Given the description of an element on the screen output the (x, y) to click on. 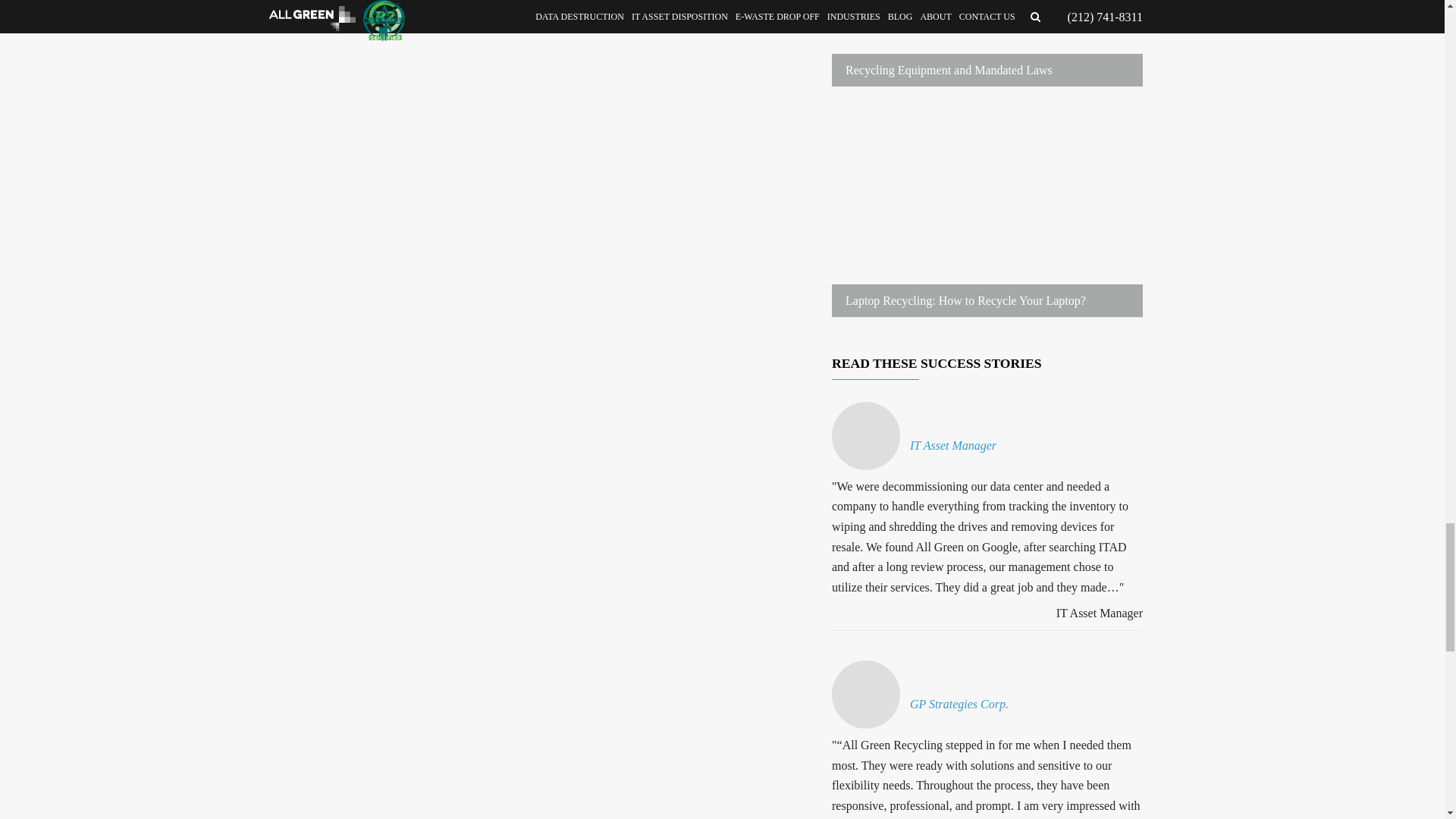
It asset manager 7 (865, 436)
Gp strategies corp. 8 (865, 694)
Laptop recycling: how to recycle your laptop? 6 (986, 212)
Recycling equipment and mandated laws 5 (986, 43)
